Given the description of an element on the screen output the (x, y) to click on. 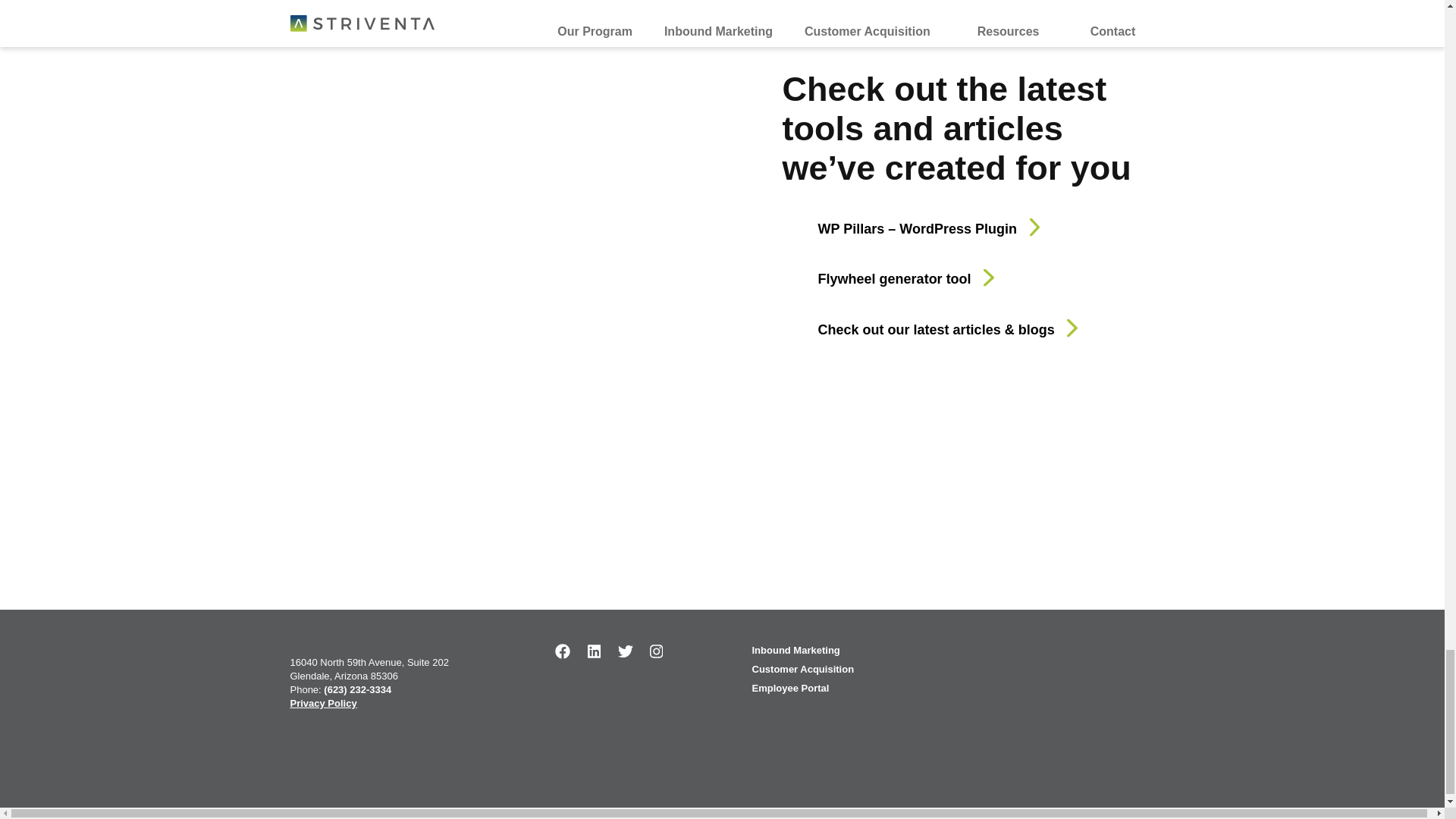
Privacy Policy (322, 703)
Flywheel generator tool (877, 279)
